Given the description of an element on the screen output the (x, y) to click on. 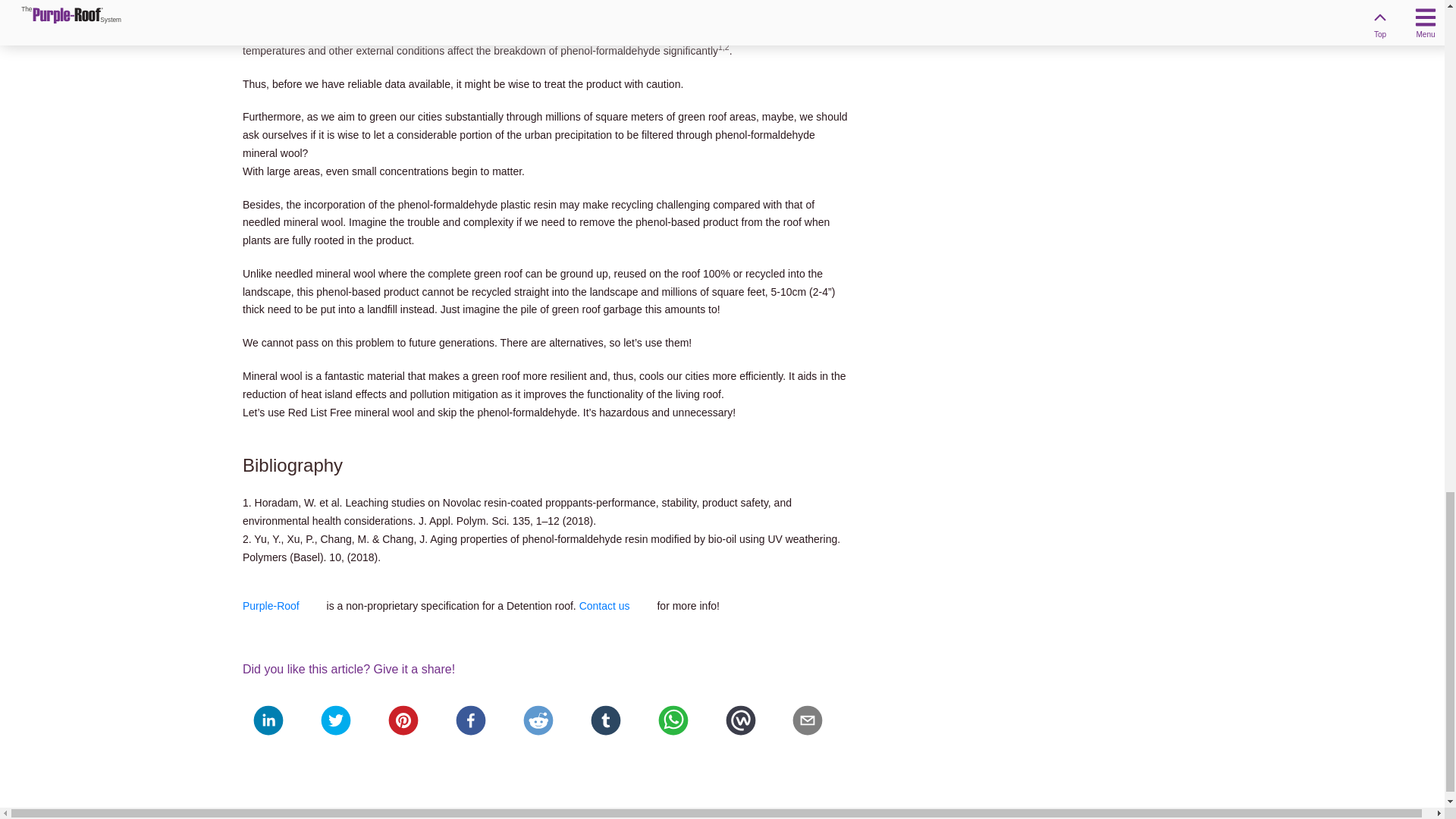
Contact Purple-Roof (616, 605)
Purple-Roof HOME! (283, 605)
Contact us (616, 605)
Purple-Roof (283, 605)
